Given the description of an element on the screen output the (x, y) to click on. 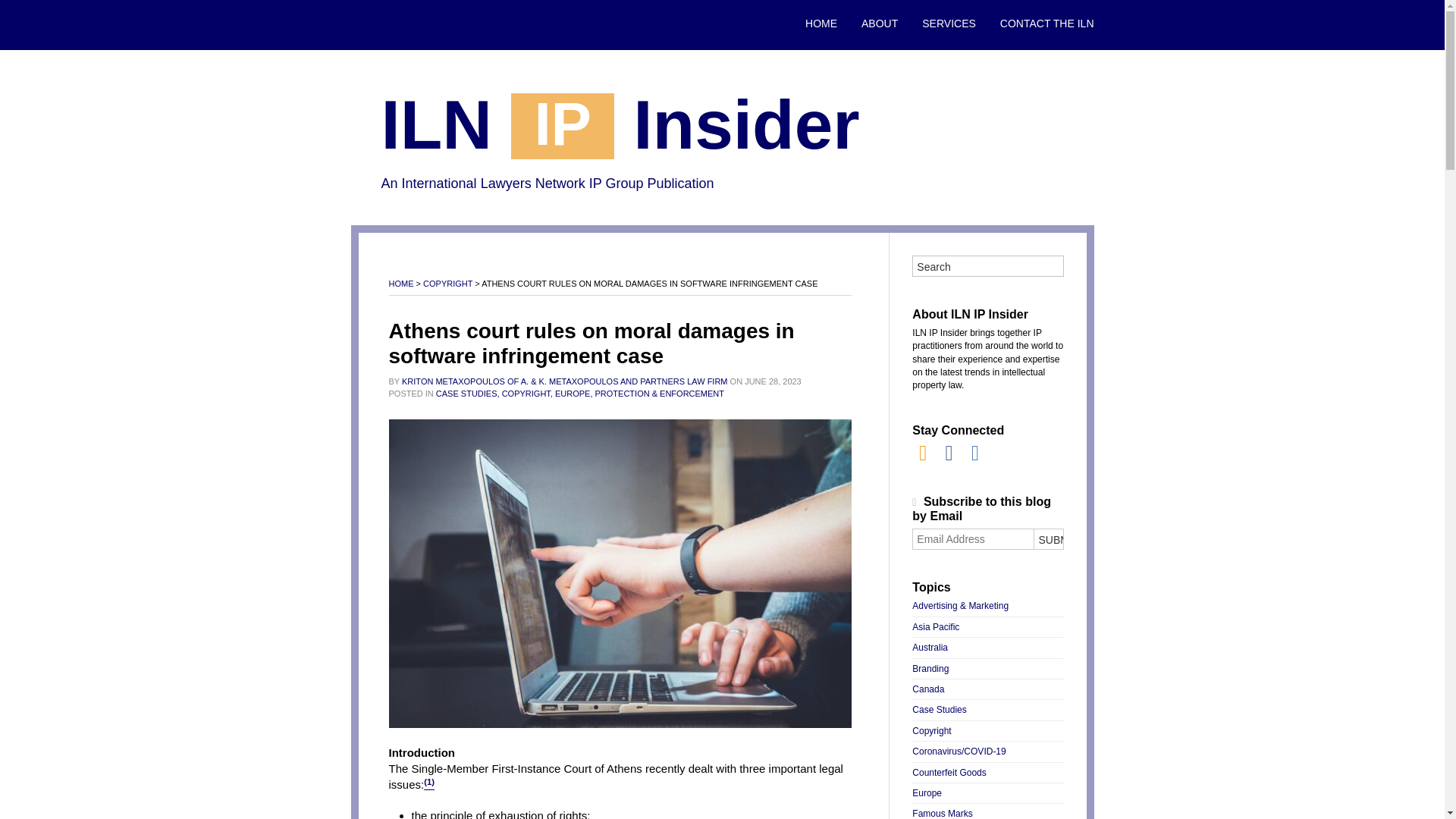
COPYRIGHT, (527, 393)
CONTACT THE ILN (1041, 24)
COPYRIGHT (447, 283)
CASE STUDIES, (467, 393)
SERVICES (949, 24)
Go (1047, 266)
Search (987, 266)
HOME (400, 283)
SUBMIT (1047, 538)
ABOUT (879, 24)
Go (1047, 266)
EUROPE, (573, 393)
HOME (820, 24)
ILN IP Insider (619, 129)
